Given the description of an element on the screen output the (x, y) to click on. 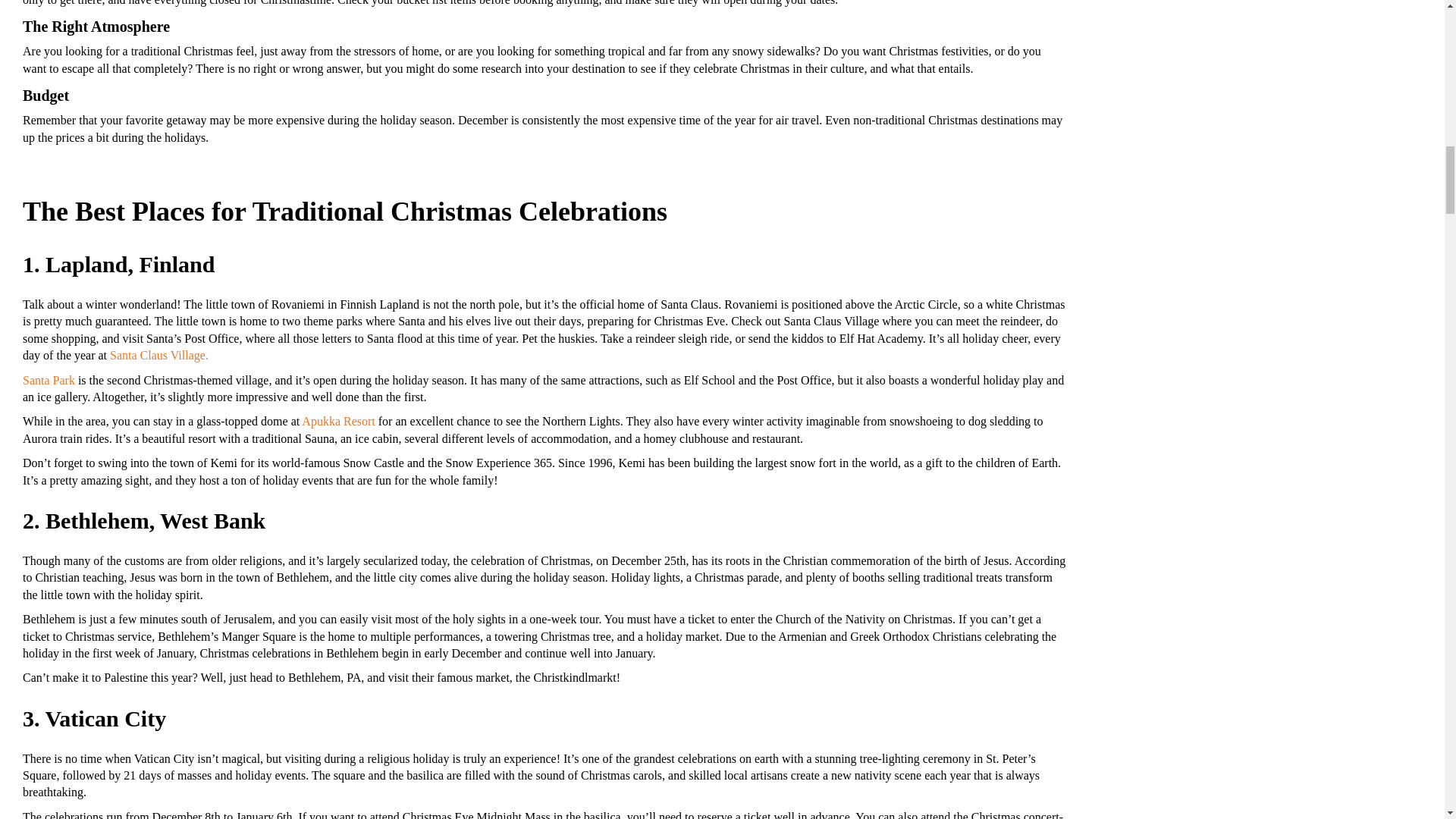
Apukka Resort (337, 420)
Santa Park (49, 379)
Santa Claus Village. (159, 354)
